Given the description of an element on the screen output the (x, y) to click on. 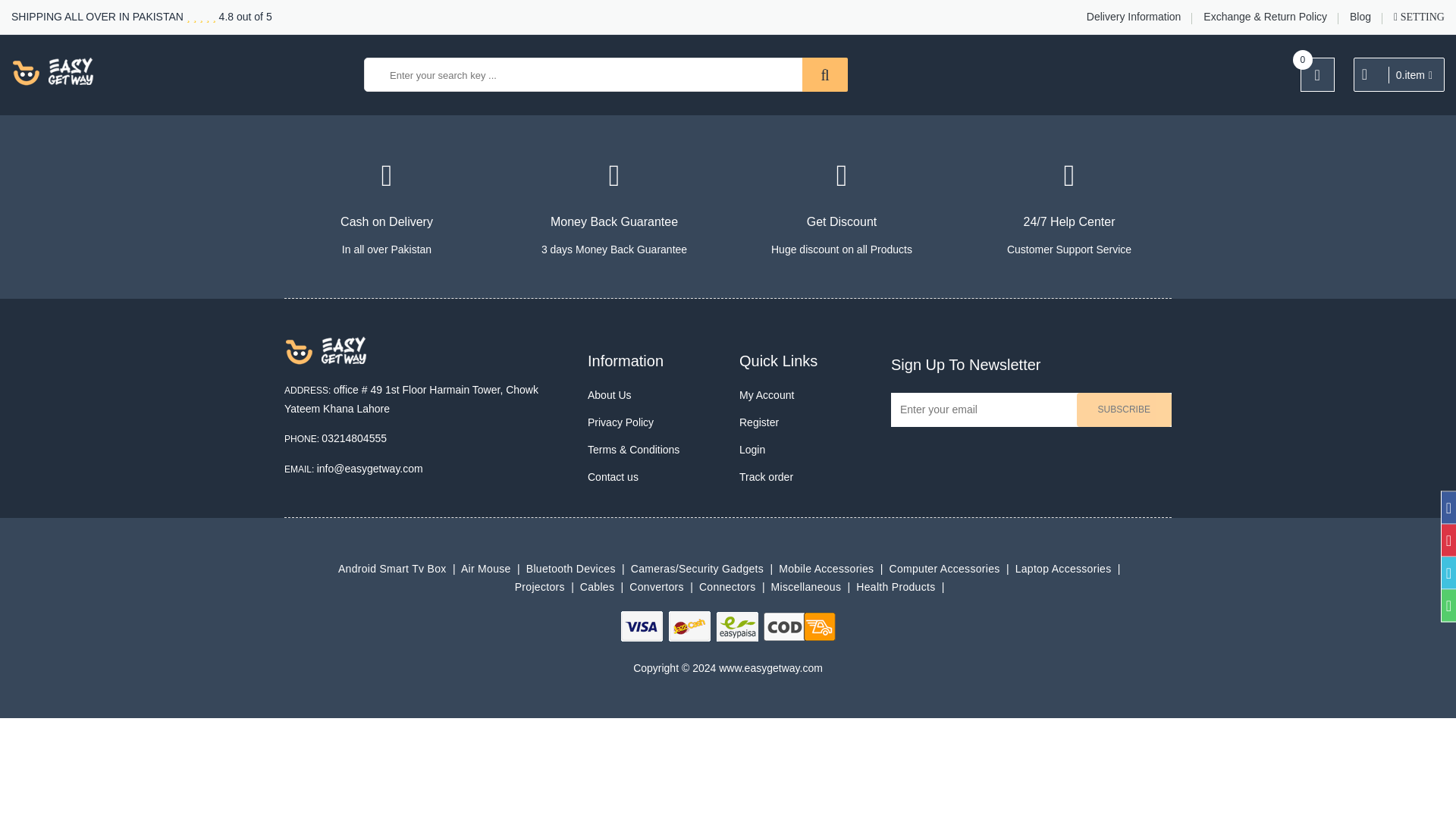
Delivery Information (1133, 17)
Blog (1360, 17)
SETTING (1418, 17)
About Us (652, 394)
0 (1317, 74)
Contact us (652, 476)
www.easygetway.com (52, 70)
We Accept (727, 625)
Privacy Policy (652, 421)
